Given the description of an element on the screen output the (x, y) to click on. 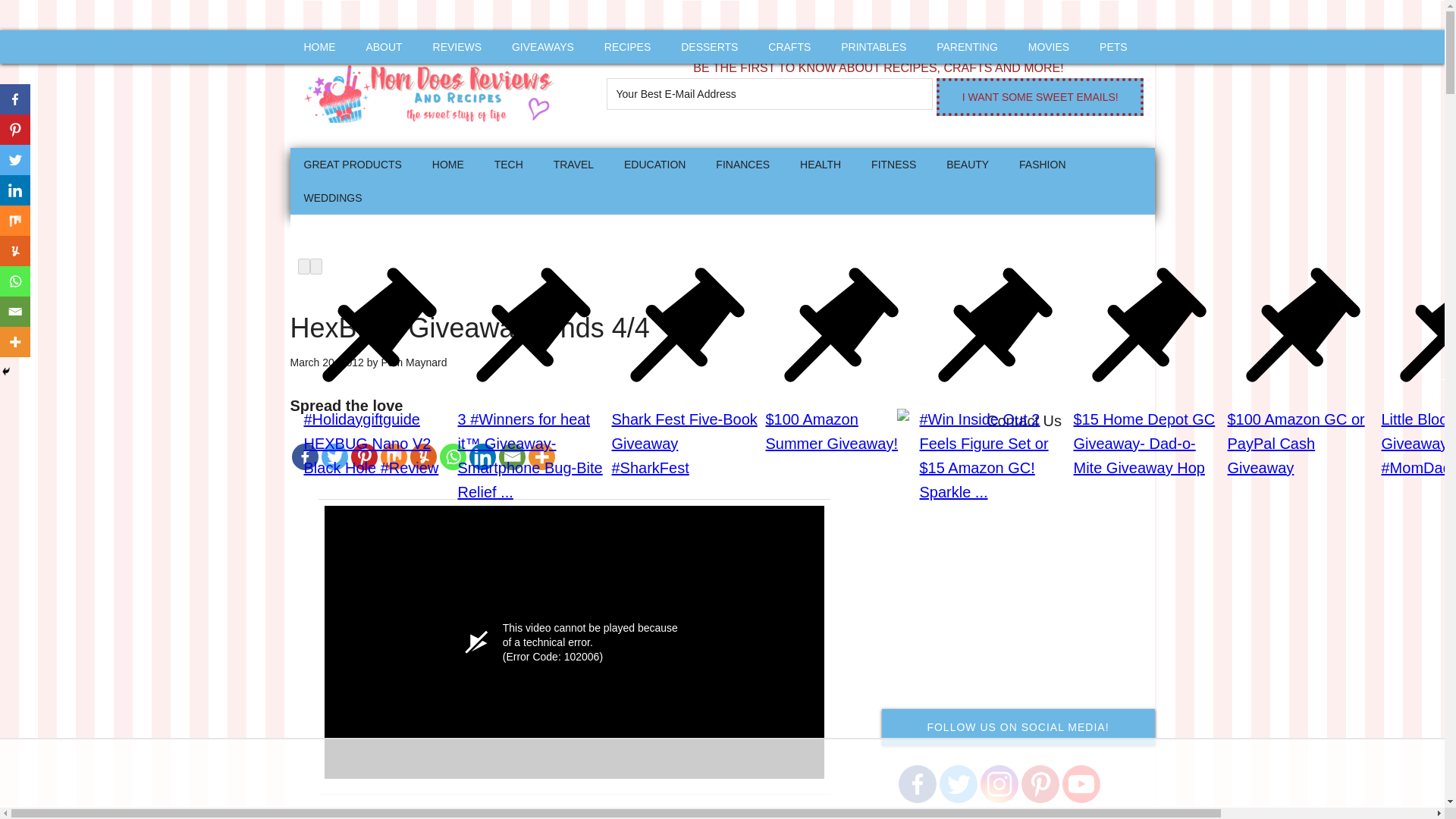
I want some Sweet Emails! (1039, 96)
Home (448, 164)
GIVEAWAYS (542, 46)
HOME (448, 164)
TRAVEL (573, 164)
BEAUTY (968, 164)
FINANCES (742, 164)
HEALTH (820, 164)
PRINTABLES (873, 46)
EDUCATION (654, 164)
Mom Does Reviews (433, 88)
REVIEWS (457, 46)
ABOUT (383, 46)
FASHION (1042, 164)
CRAFTS (789, 46)
